Given the description of an element on the screen output the (x, y) to click on. 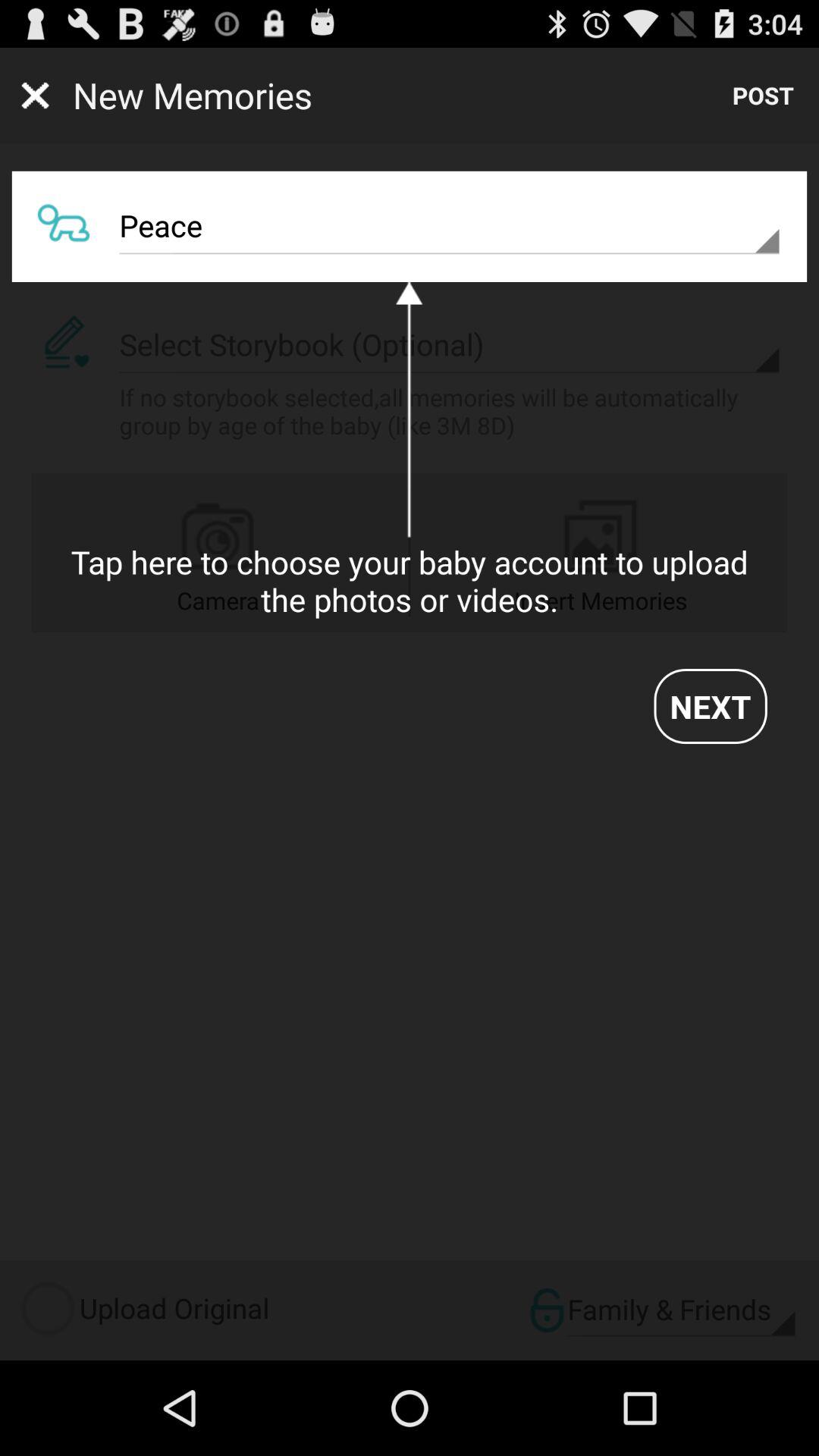
jump to next item (710, 705)
